Given the description of an element on the screen output the (x, y) to click on. 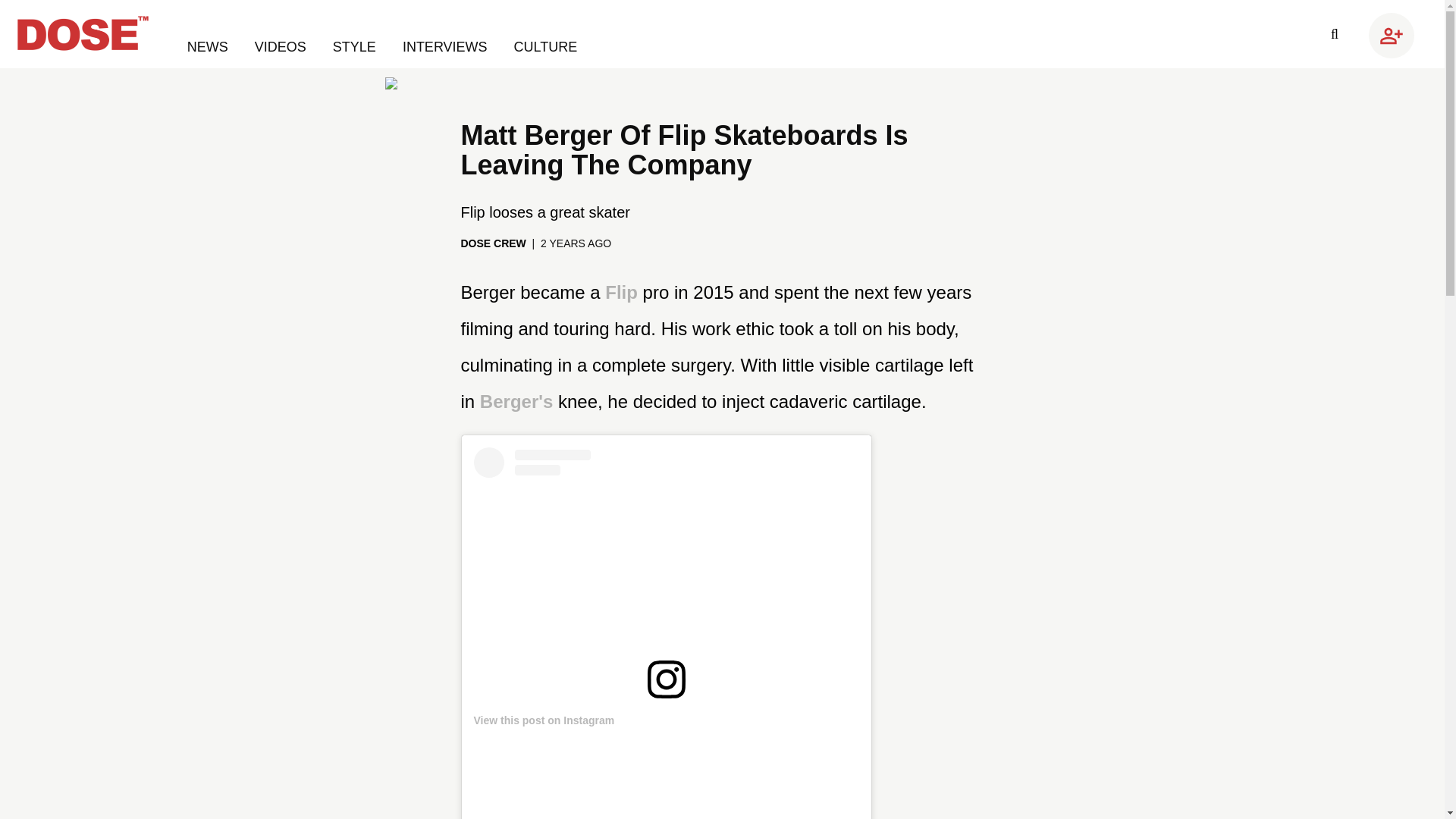
VIDEOS (282, 46)
NEWS (209, 46)
STYLE (356, 46)
DOSE CREW (493, 243)
INTERVIEWS (447, 46)
View this post on Instagram (543, 720)
Berger's (516, 401)
CULTURE (545, 46)
Flip (623, 291)
29.07.22 22:15 (575, 243)
